Given the description of an element on the screen output the (x, y) to click on. 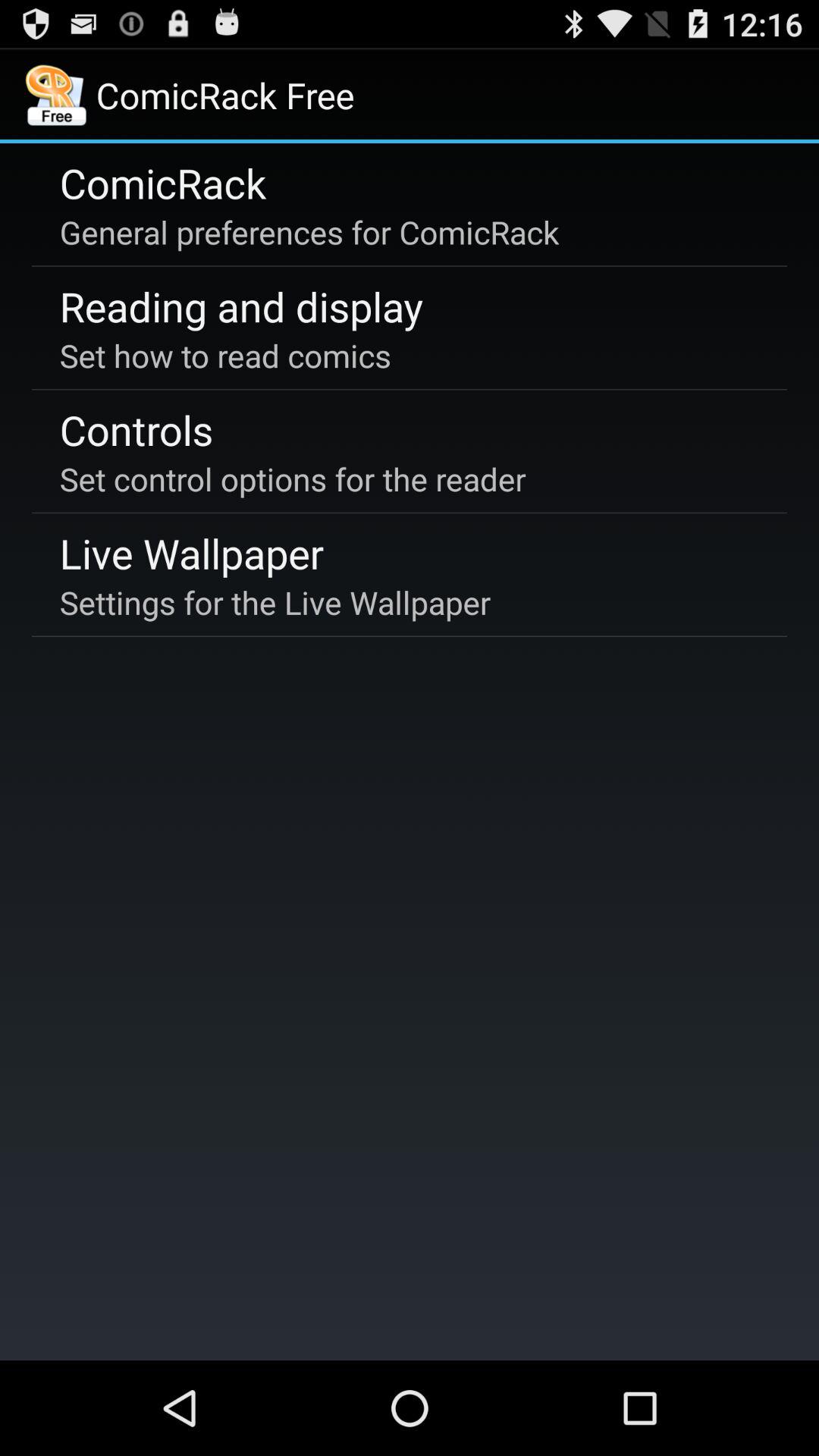
click the app above the live wallpaper (292, 478)
